Given the description of an element on the screen output the (x, y) to click on. 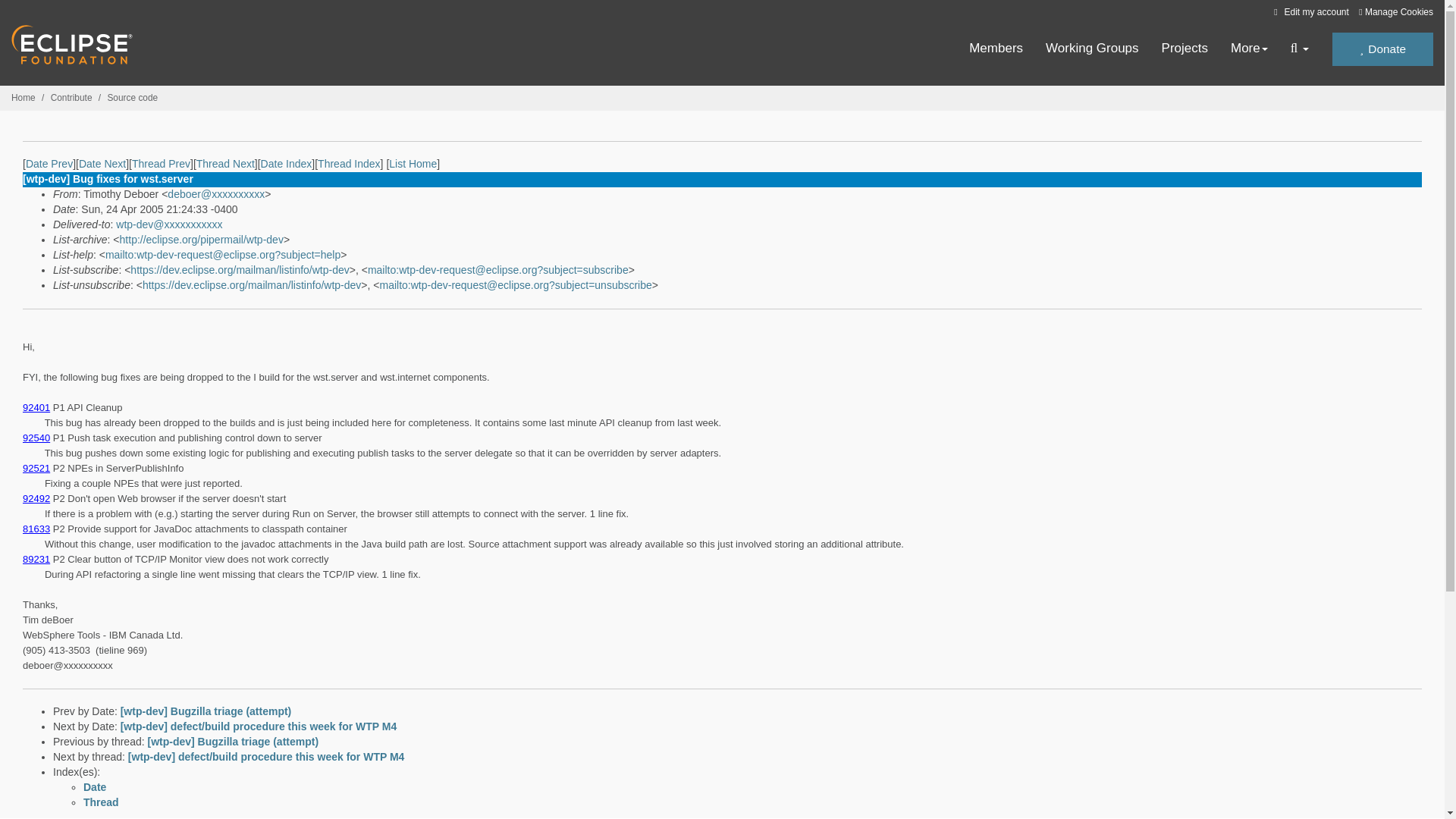
Donate (1382, 49)
More (1249, 48)
Members (996, 48)
Edit my account (1309, 11)
Manage Cookies (1395, 12)
Projects (1184, 48)
Working Groups (1091, 48)
